Given the description of an element on the screen output the (x, y) to click on. 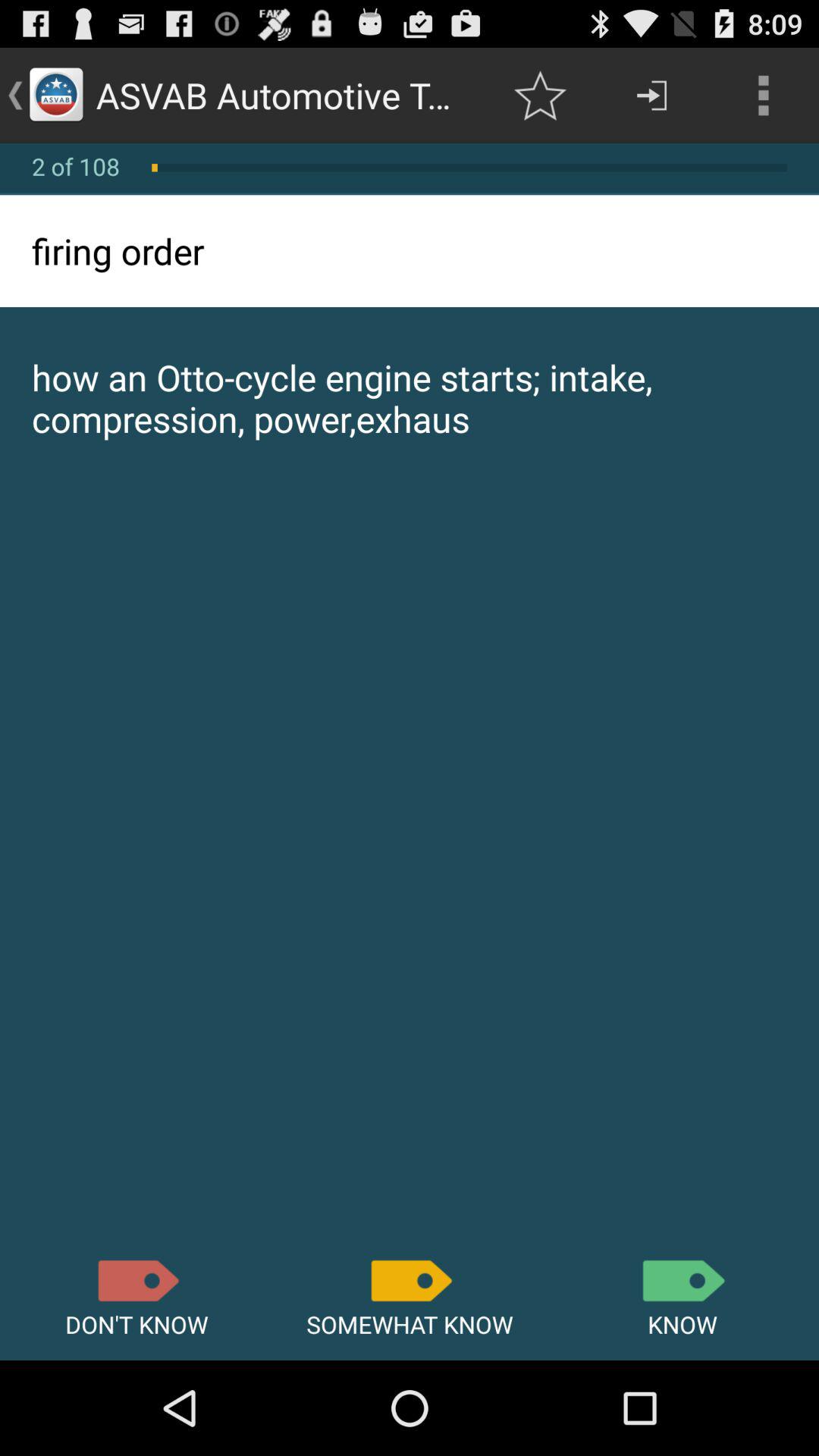
tap the item below the how an otto (136, 1280)
